Given the description of an element on the screen output the (x, y) to click on. 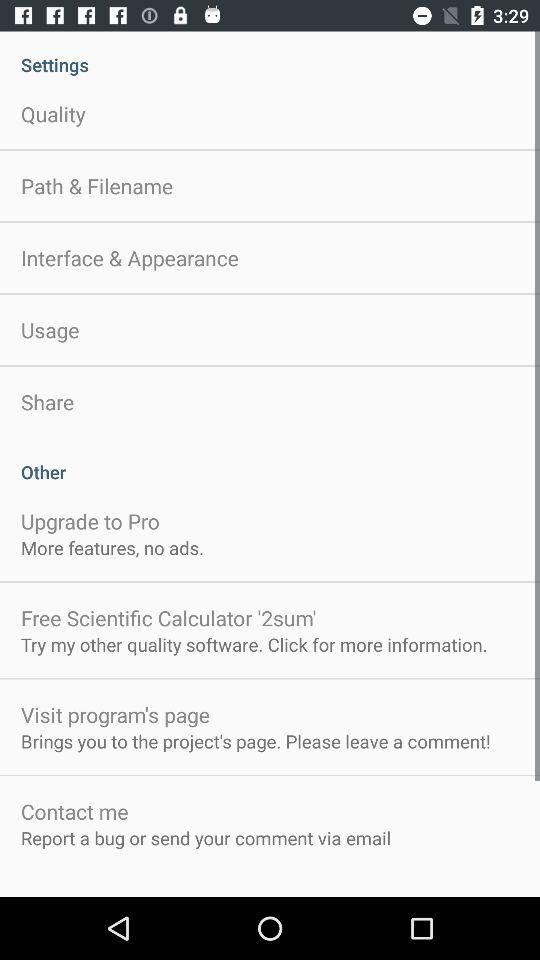
choose the share app (47, 401)
